Given the description of an element on the screen output the (x, y) to click on. 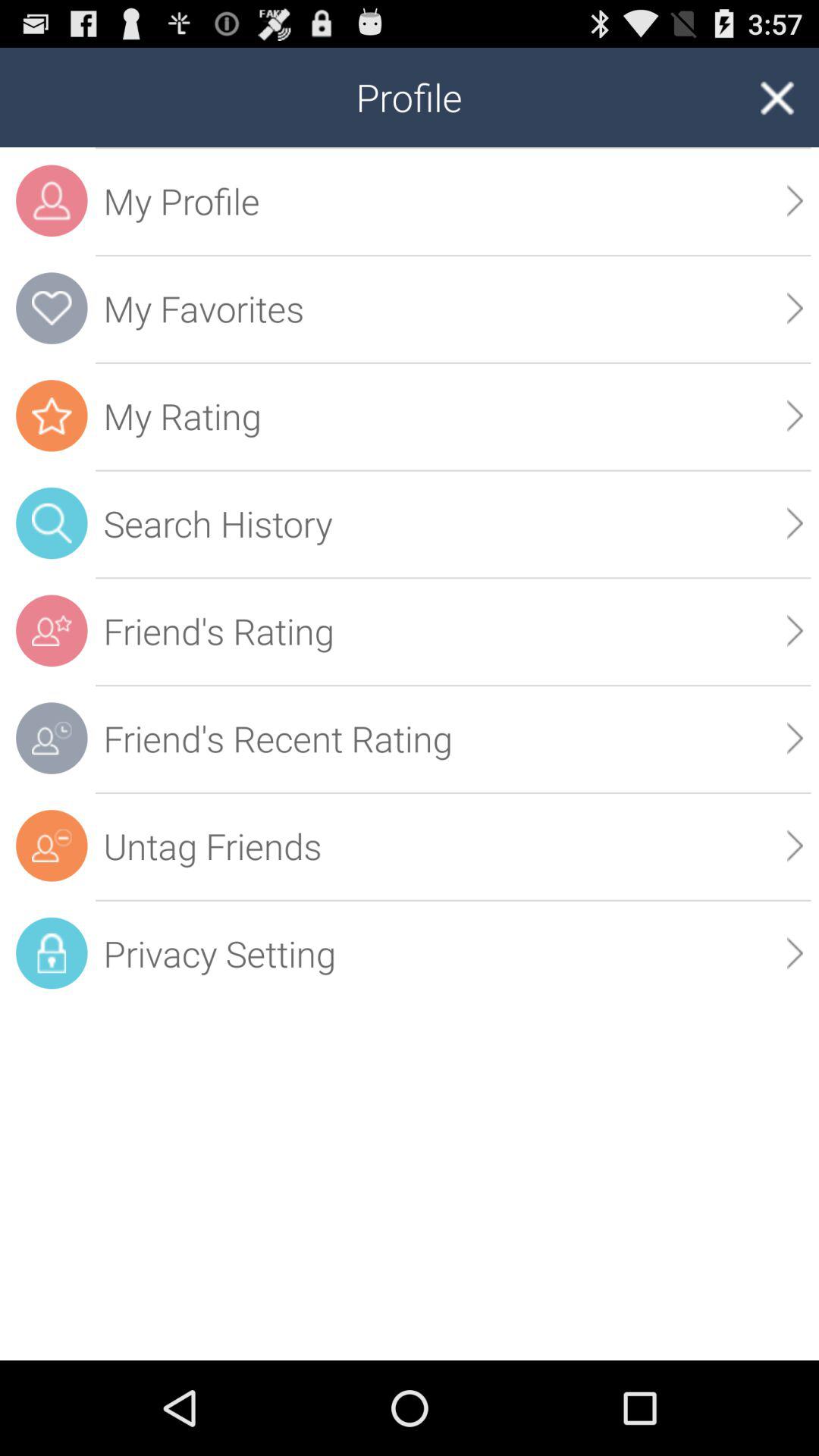
turn off privacy setting (453, 953)
